Given the description of an element on the screen output the (x, y) to click on. 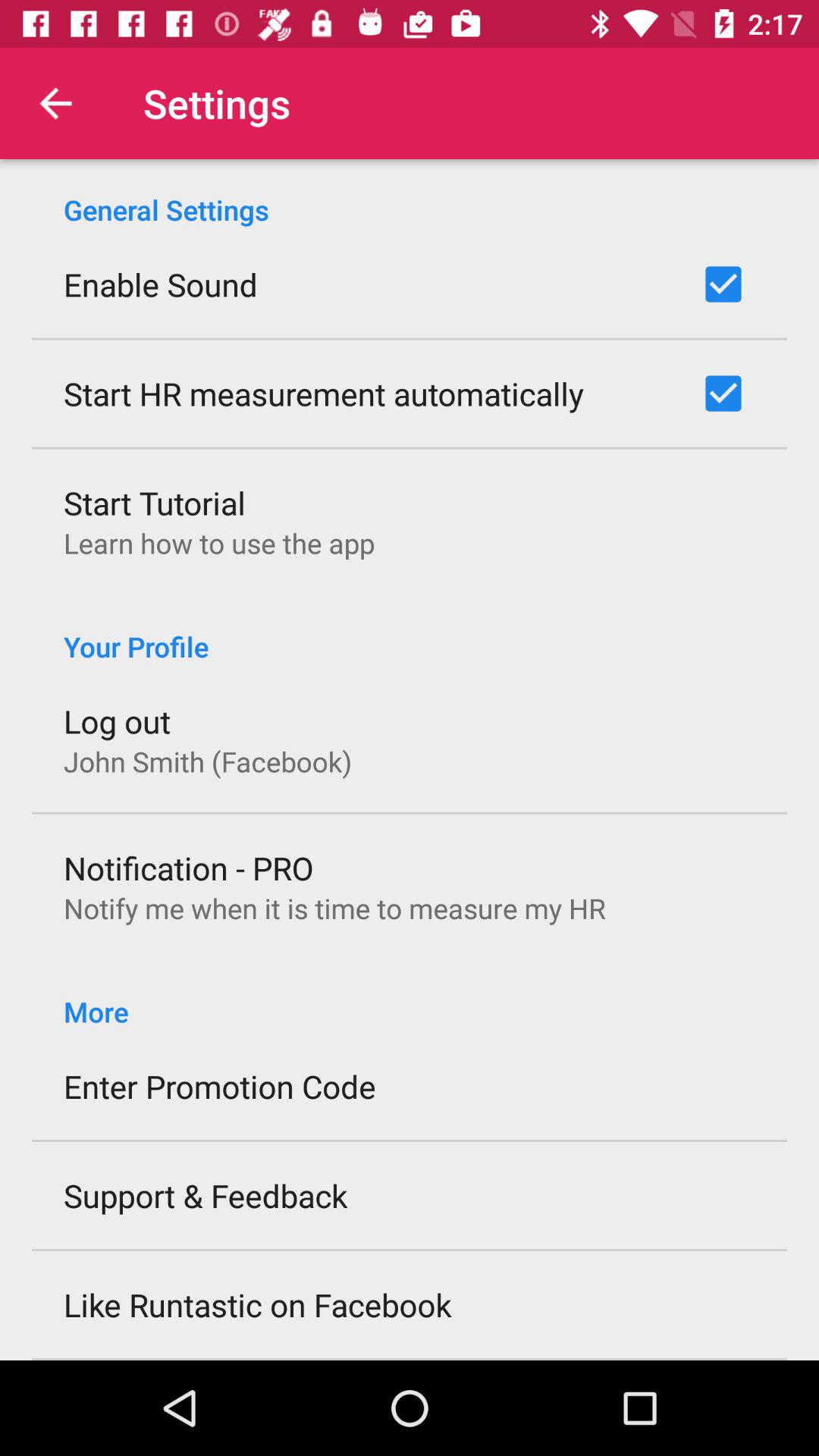
press the enable sound item (160, 283)
